Given the description of an element on the screen output the (x, y) to click on. 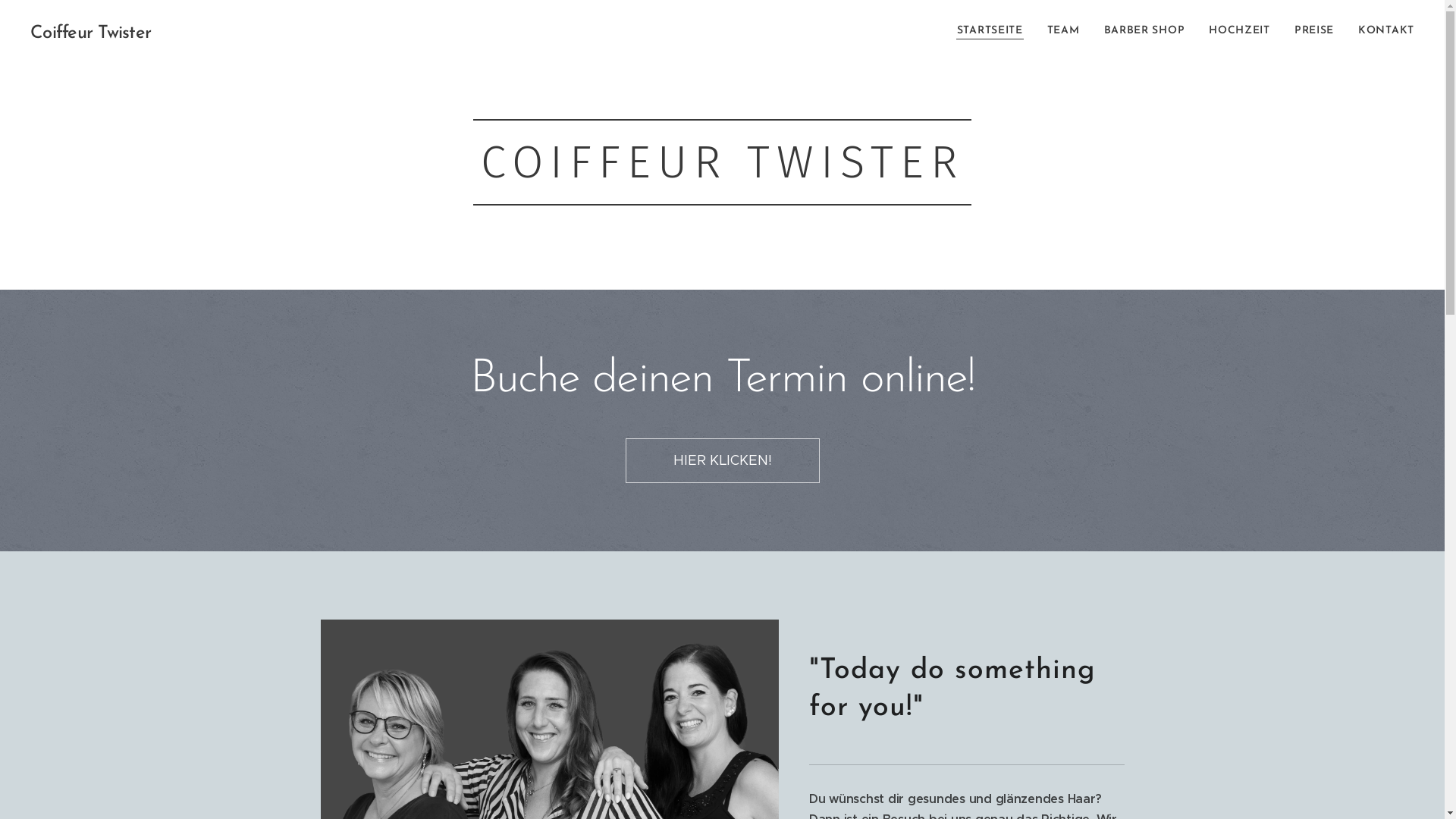
BARBER SHOP Element type: text (1144, 31)
HOCHZEIT Element type: text (1239, 31)
PREISE Element type: text (1314, 31)
STARTSEITE Element type: text (994, 31)
KONTAKT Element type: text (1380, 31)
HIER KLICKEN! Element type: text (721, 460)
TEAM Element type: text (1063, 31)
